Given the description of an element on the screen output the (x, y) to click on. 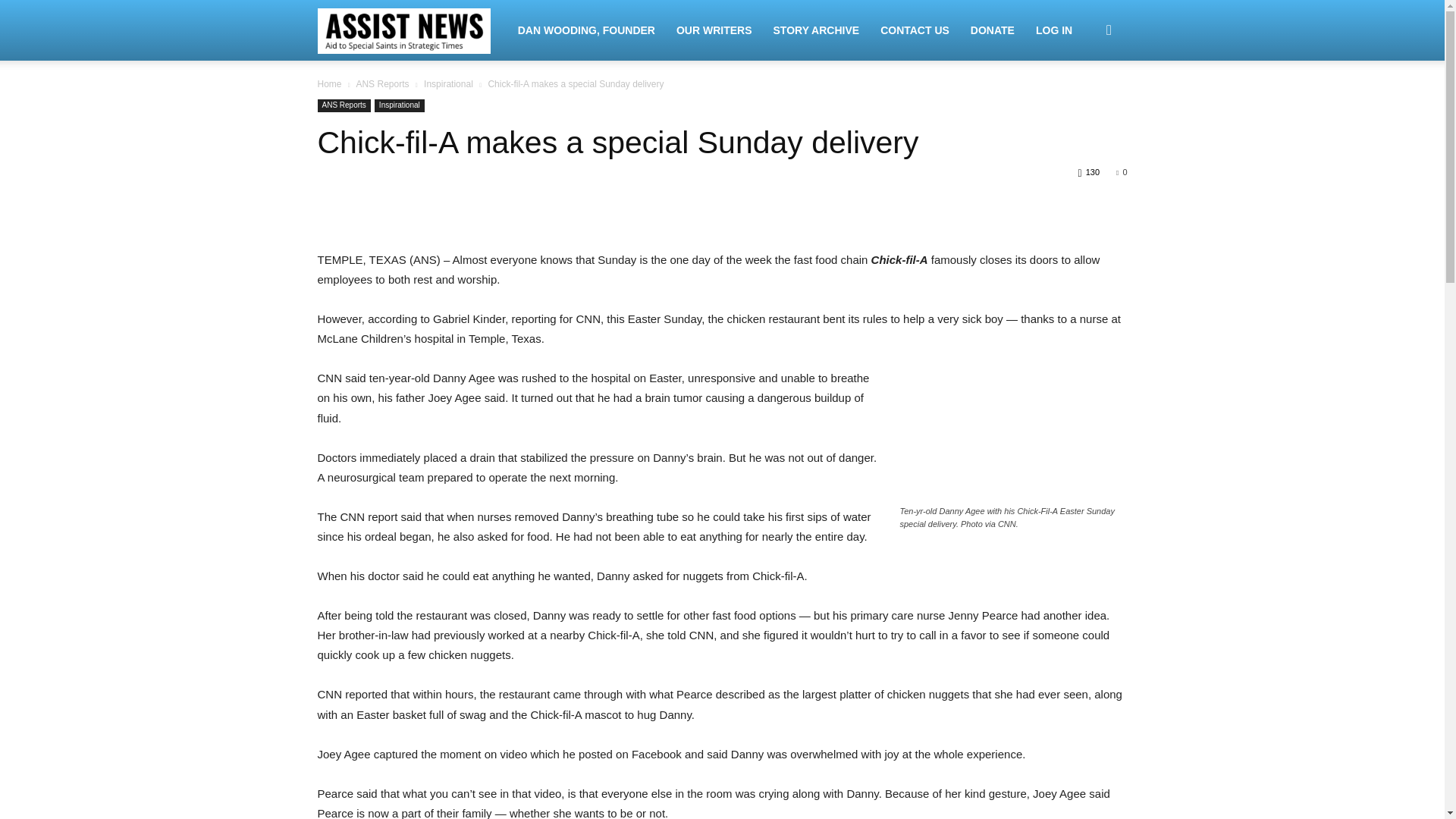
ANS Reports (343, 105)
View all posts in ANS Reports (382, 83)
CONTACT US (914, 30)
DONATE (992, 30)
STORY ARCHIVE (816, 30)
Home (328, 83)
ASSIST NEWS (411, 30)
Search (1085, 102)
Inspirational (399, 105)
0 (1121, 171)
